Given the description of an element on the screen output the (x, y) to click on. 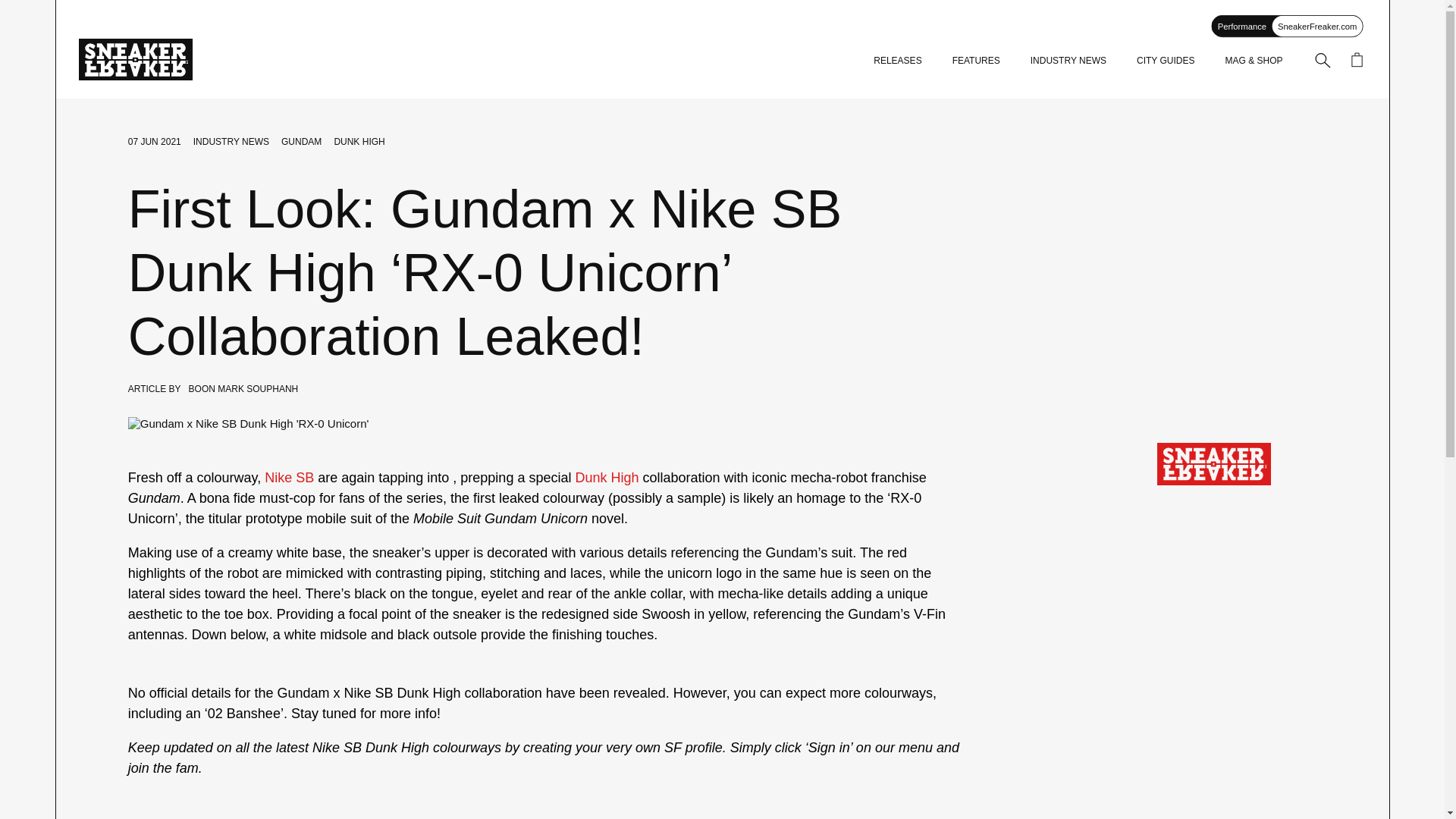
FEATURES (976, 60)
Nike SB (289, 477)
INDUSTRY NEWS (1068, 60)
RELEASES (897, 60)
CITY GUIDES (1165, 60)
INDUSTRY NEWS (231, 141)
DUNK HIGH (358, 141)
Dunk High (607, 477)
GUNDAM (301, 141)
